Given the description of an element on the screen output the (x, y) to click on. 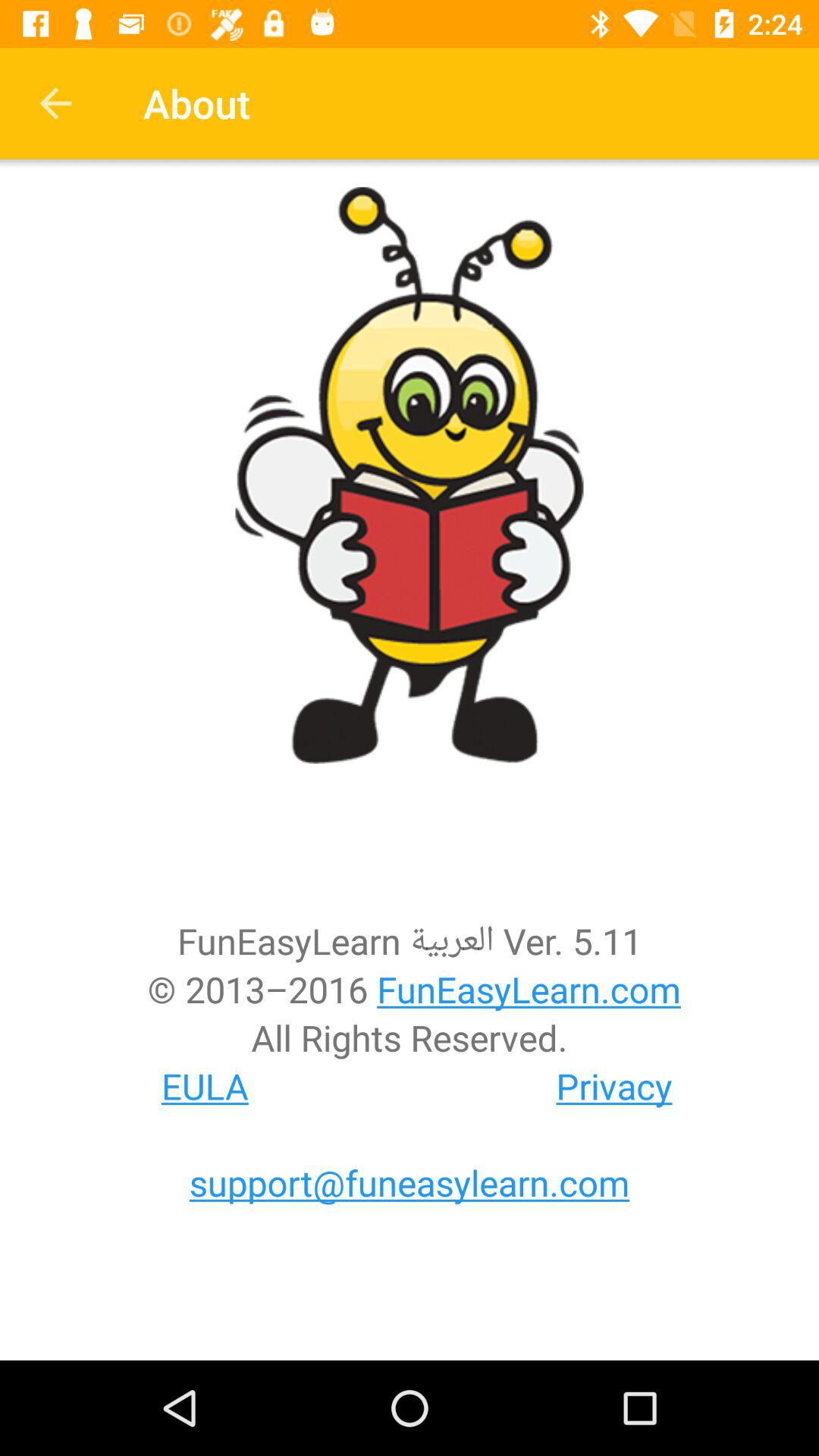
open icon to the right of the eula (614, 1085)
